Given the description of an element on the screen output the (x, y) to click on. 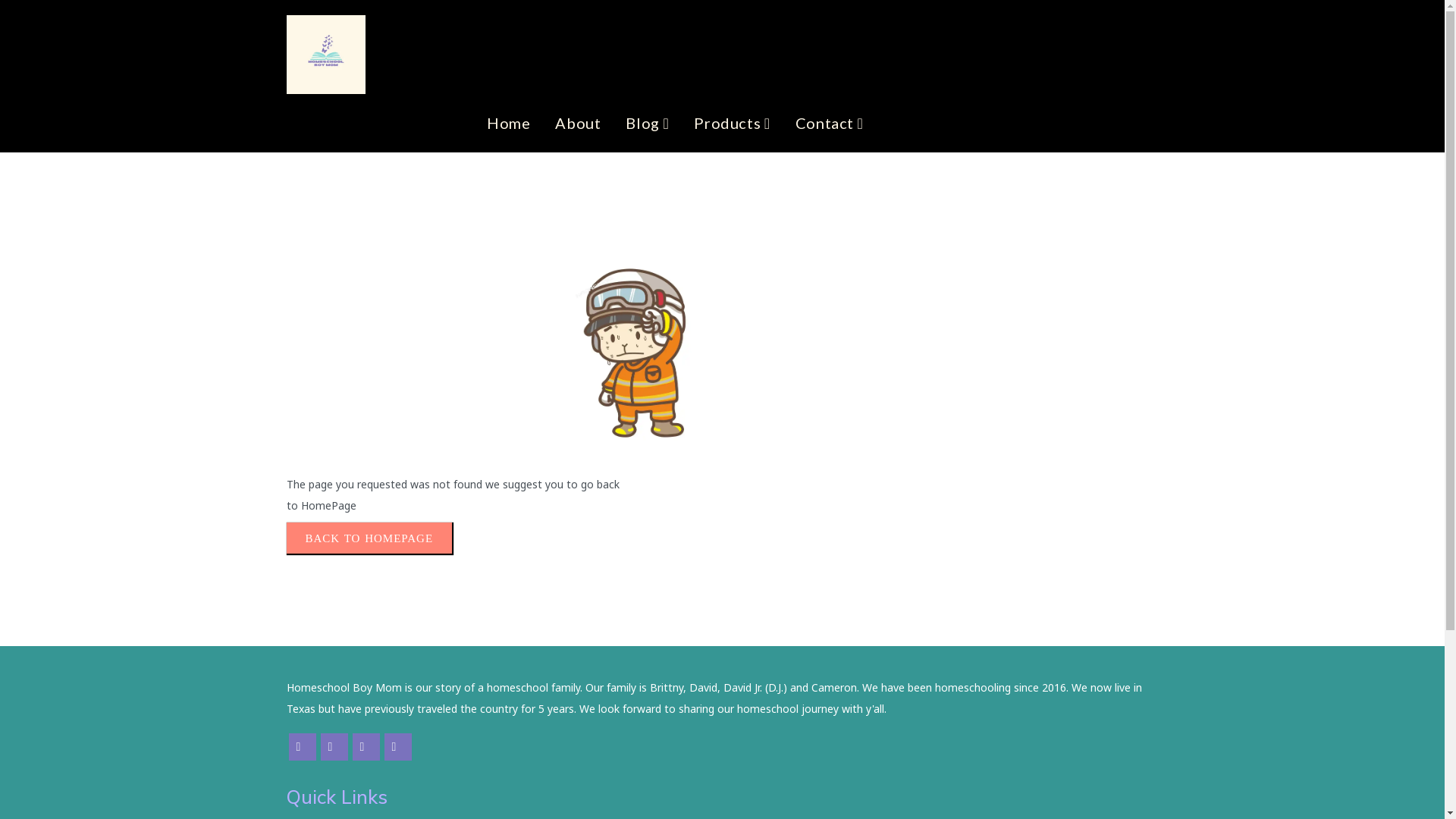
About Element type: text (577, 122)
Products Element type: text (731, 123)
Home Element type: text (508, 122)
Blog Element type: text (647, 123)
Homeschool Boy Mom Logo Element type: hover (325, 54)
BACK TO HOMEPAGE Element type: text (369, 537)
Contact Element type: text (829, 123)
